Given the description of an element on the screen output the (x, y) to click on. 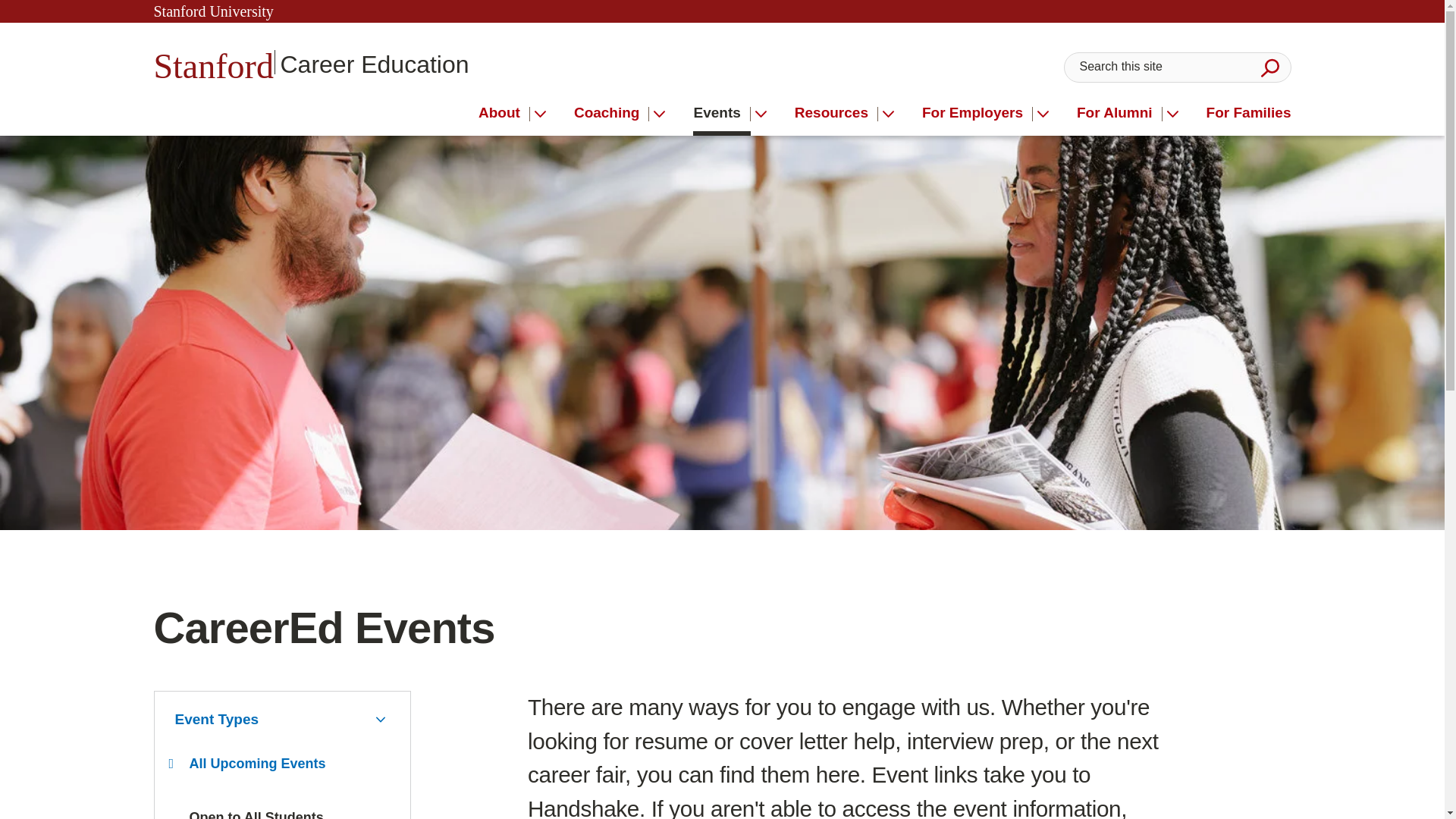
All upcoming events (257, 763)
Submit Search (1269, 67)
Coaching (611, 112)
About (504, 112)
